Given the description of an element on the screen output the (x, y) to click on. 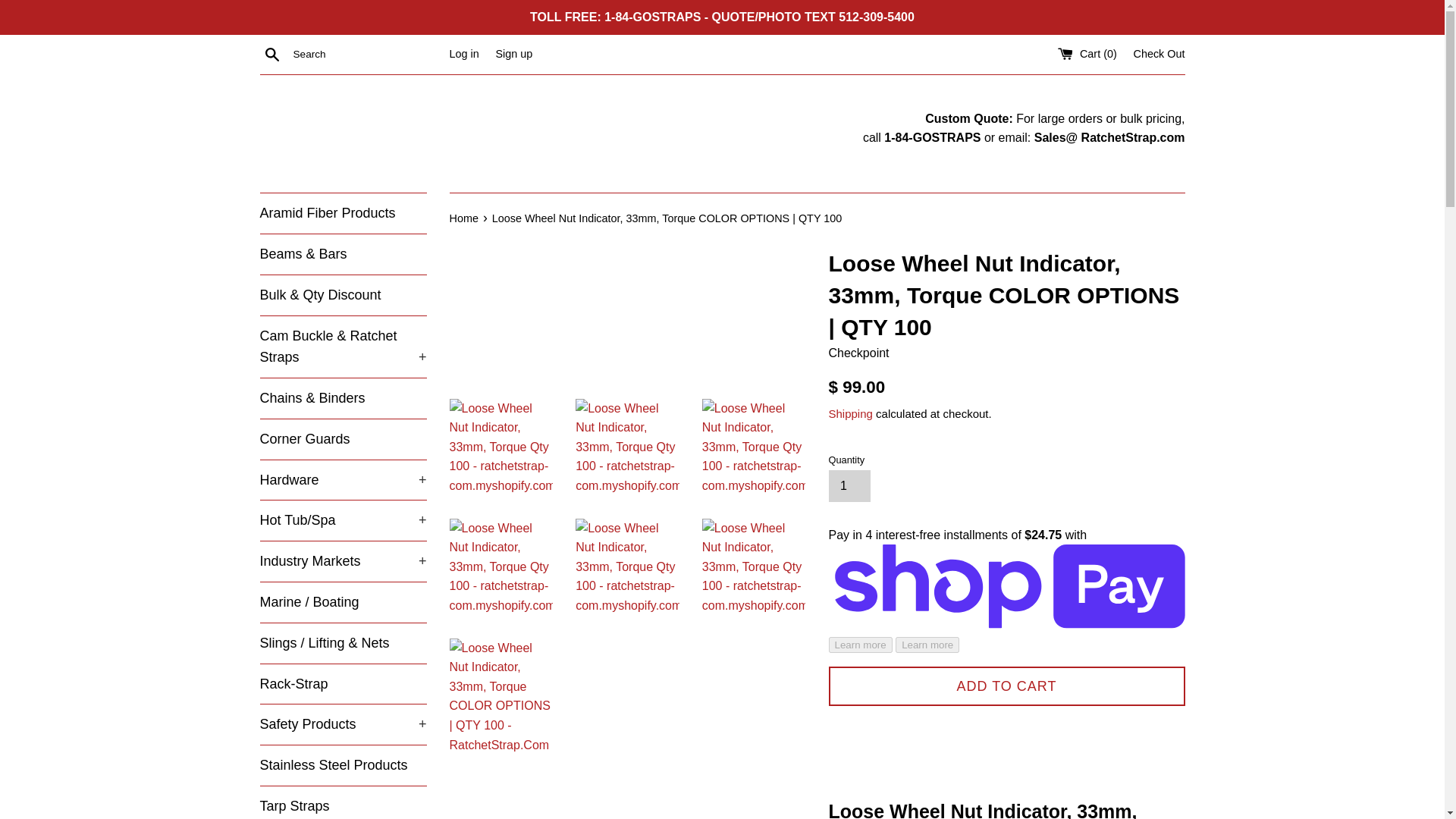
Log in (463, 53)
Search (271, 53)
1 (848, 486)
Contact RatchetStrap.com (1109, 137)
Back to the frontpage (464, 218)
Corner Guards (342, 439)
Aramid Fiber Products (342, 213)
Sign up (513, 53)
Check Out (1159, 53)
